Given the description of an element on the screen output the (x, y) to click on. 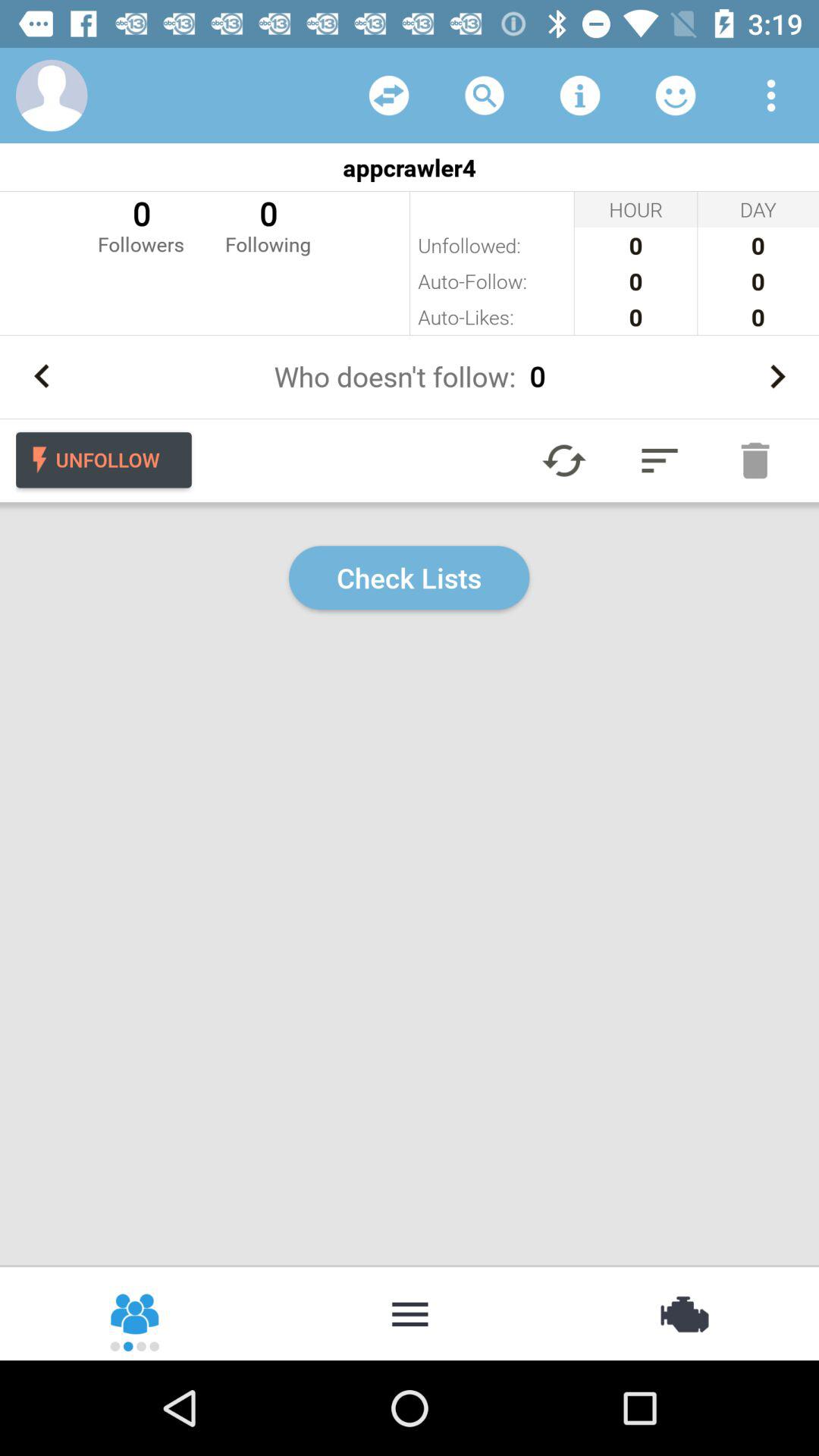
choose icon above the appcrawler4 item (51, 95)
